Given the description of an element on the screen output the (x, y) to click on. 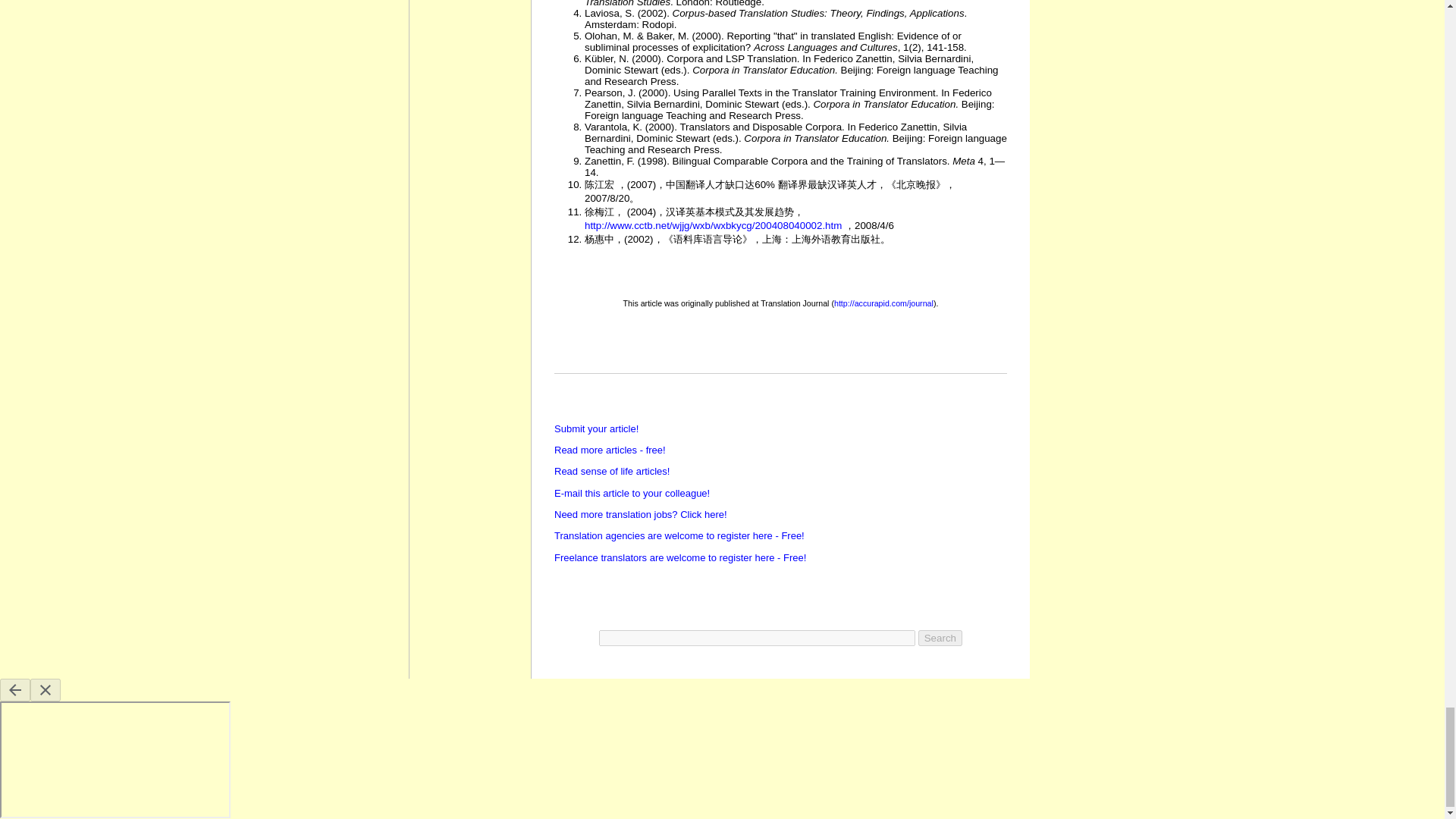
Translation agencies are welcome to register here - Free! (679, 535)
Need more translation jobs? Click here! (640, 514)
Freelance translators are welcome to register here - Free! (680, 557)
Search (940, 637)
E-mail this article to your colleague! (632, 492)
Search (940, 637)
Read more articles - free! (609, 449)
Submit your article! (596, 428)
Read sense of life articles! (611, 471)
